Given the description of an element on the screen output the (x, y) to click on. 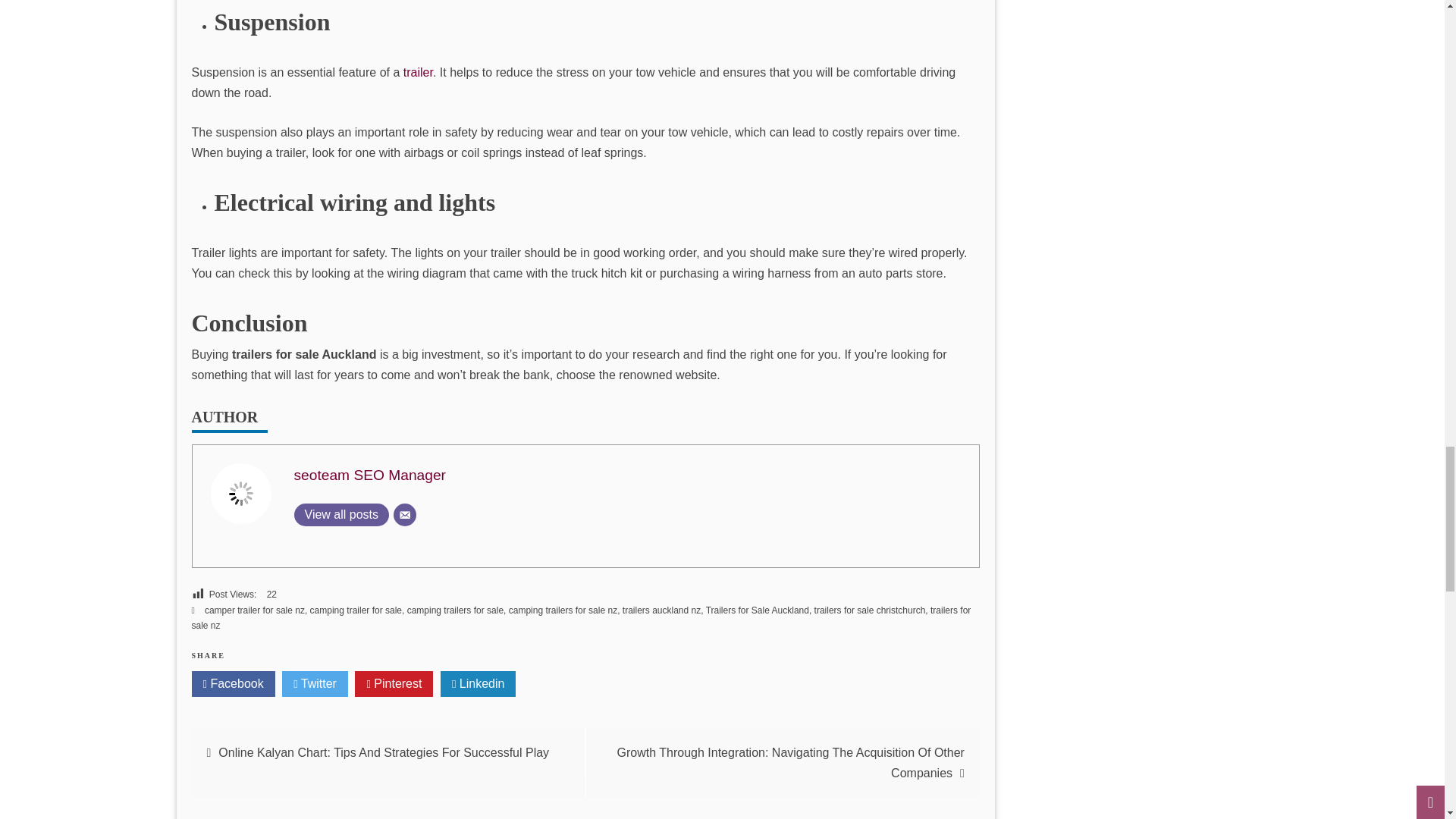
Linkedin (478, 683)
trailers for sale christchurch (869, 610)
camper trailer for sale nz (254, 610)
trailer (417, 72)
Online Kalyan Chart: Tips And Strategies For Successful Play (383, 752)
camping trailers for sale (455, 610)
View all posts (342, 514)
Trailers for Sale Auckland (757, 610)
View all posts (342, 514)
trailers for sale nz (580, 617)
